Given the description of an element on the screen output the (x, y) to click on. 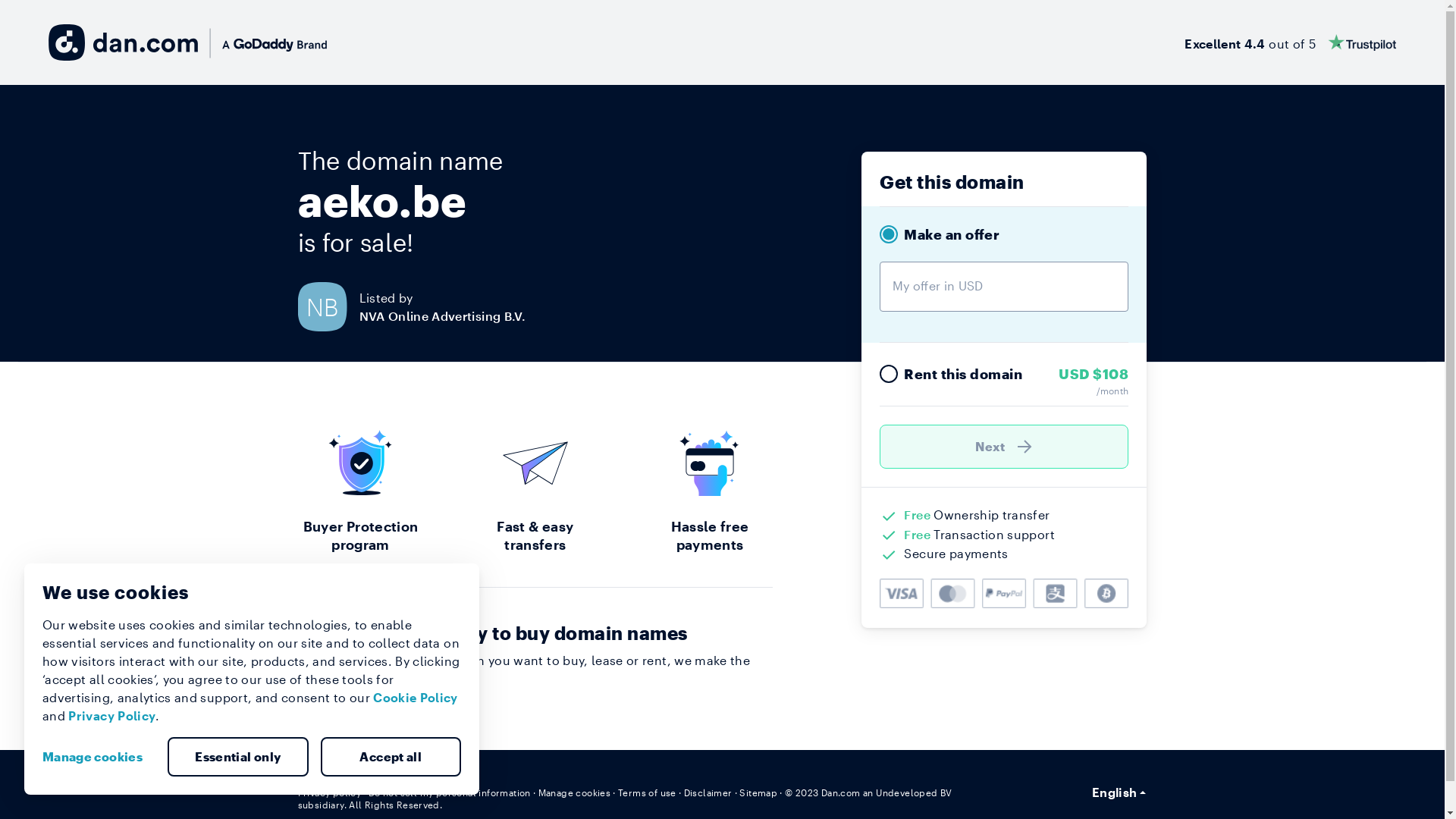
Manage cookies Element type: text (574, 792)
Disclaimer Element type: text (708, 792)
Privacy policy Element type: text (328, 792)
Privacy Policy Element type: text (111, 715)
Cookie Policy Element type: text (415, 697)
Manage cookies Element type: text (98, 756)
Accept all Element type: text (390, 756)
Next
) Element type: text (1003, 446)
Essential only Element type: text (237, 756)
Do not sell my personal information Element type: text (449, 792)
Excellent 4.4 out of 5 Element type: text (1290, 42)
English Element type: text (1119, 792)
Terms of use Element type: text (647, 792)
Sitemap Element type: text (758, 792)
